Given the description of an element on the screen output the (x, y) to click on. 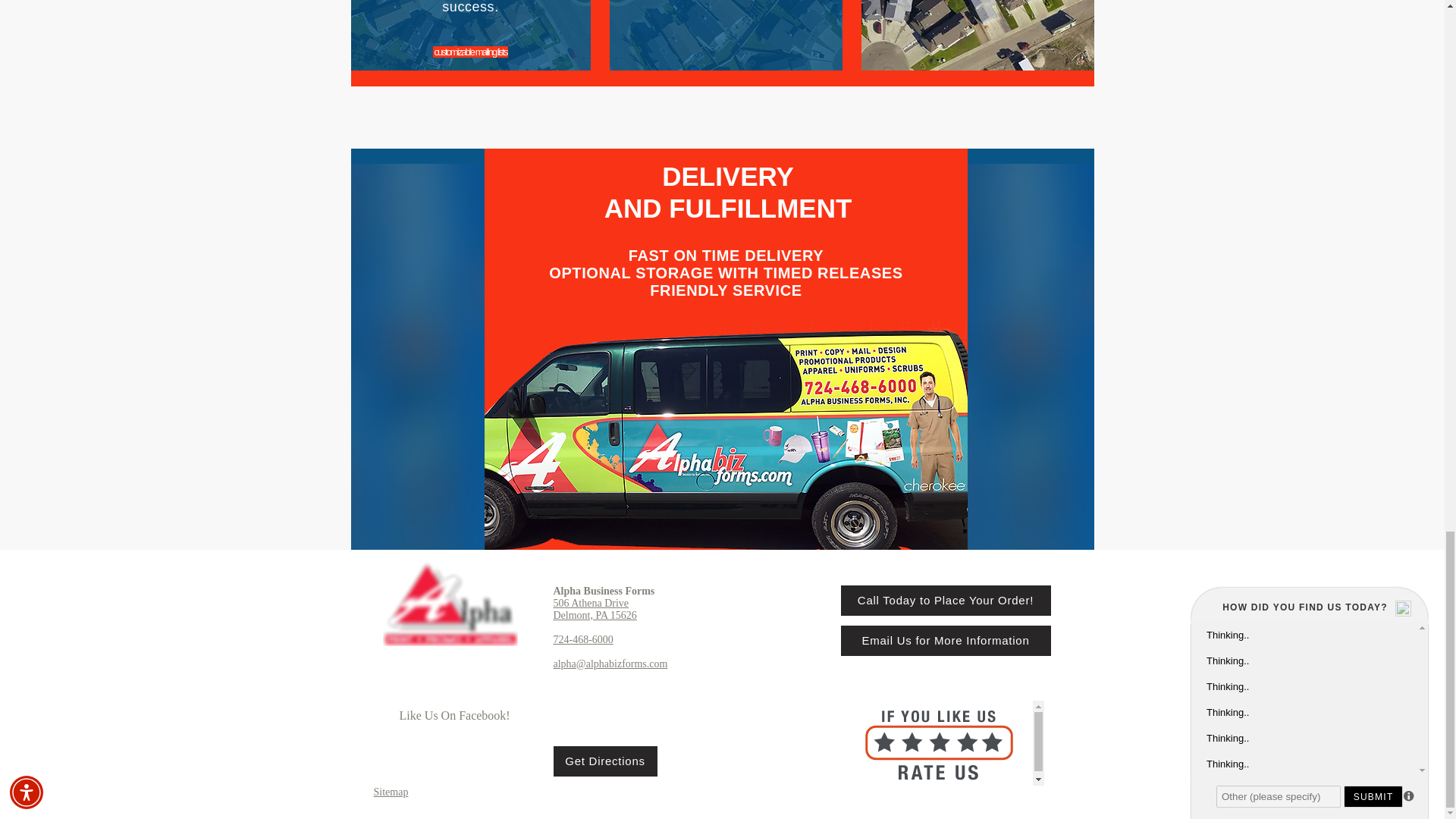
Get Directions (605, 761)
Delmont, PA 15626 (595, 614)
AlphaPPA-web.png (448, 603)
724-468-6000 (582, 639)
Call Today to Place Your Order! (944, 600)
Email Us for More Information (944, 640)
Embedded Content (950, 743)
Sitemap (389, 791)
506 Athena Drive (590, 603)
